Given the description of an element on the screen output the (x, y) to click on. 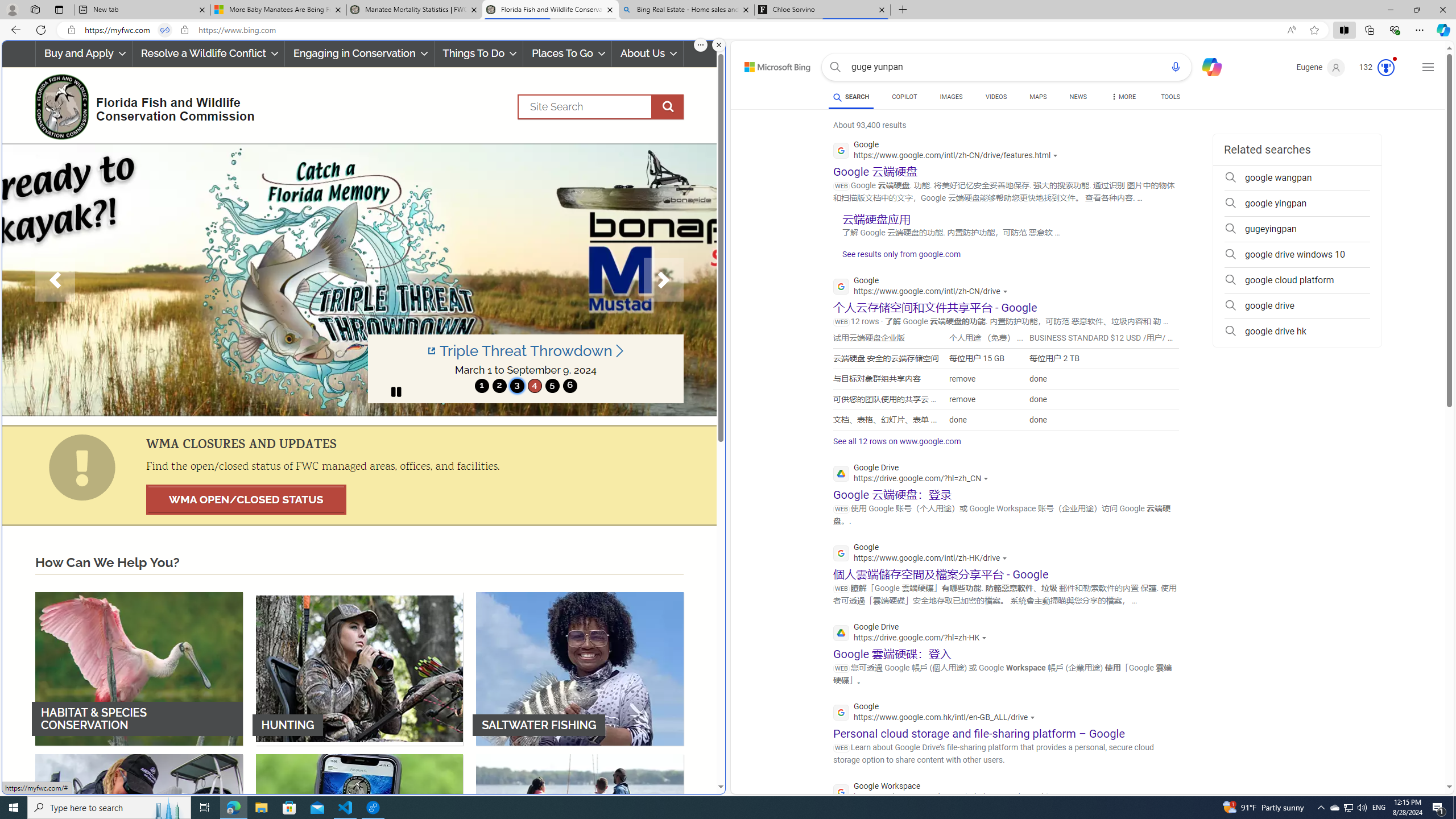
Next (663, 279)
gugeyingpan (1297, 229)
google wangpan (1297, 177)
Previous (54, 279)
Global web icon (841, 791)
Close (1442, 9)
1 (481, 385)
Class: outer-circle-animation (1385, 67)
Things To Do (478, 53)
4 (534, 385)
Browser essentials (1394, 29)
move to slide 3 (516, 385)
slider pause button (396, 391)
